Given the description of an element on the screen output the (x, y) to click on. 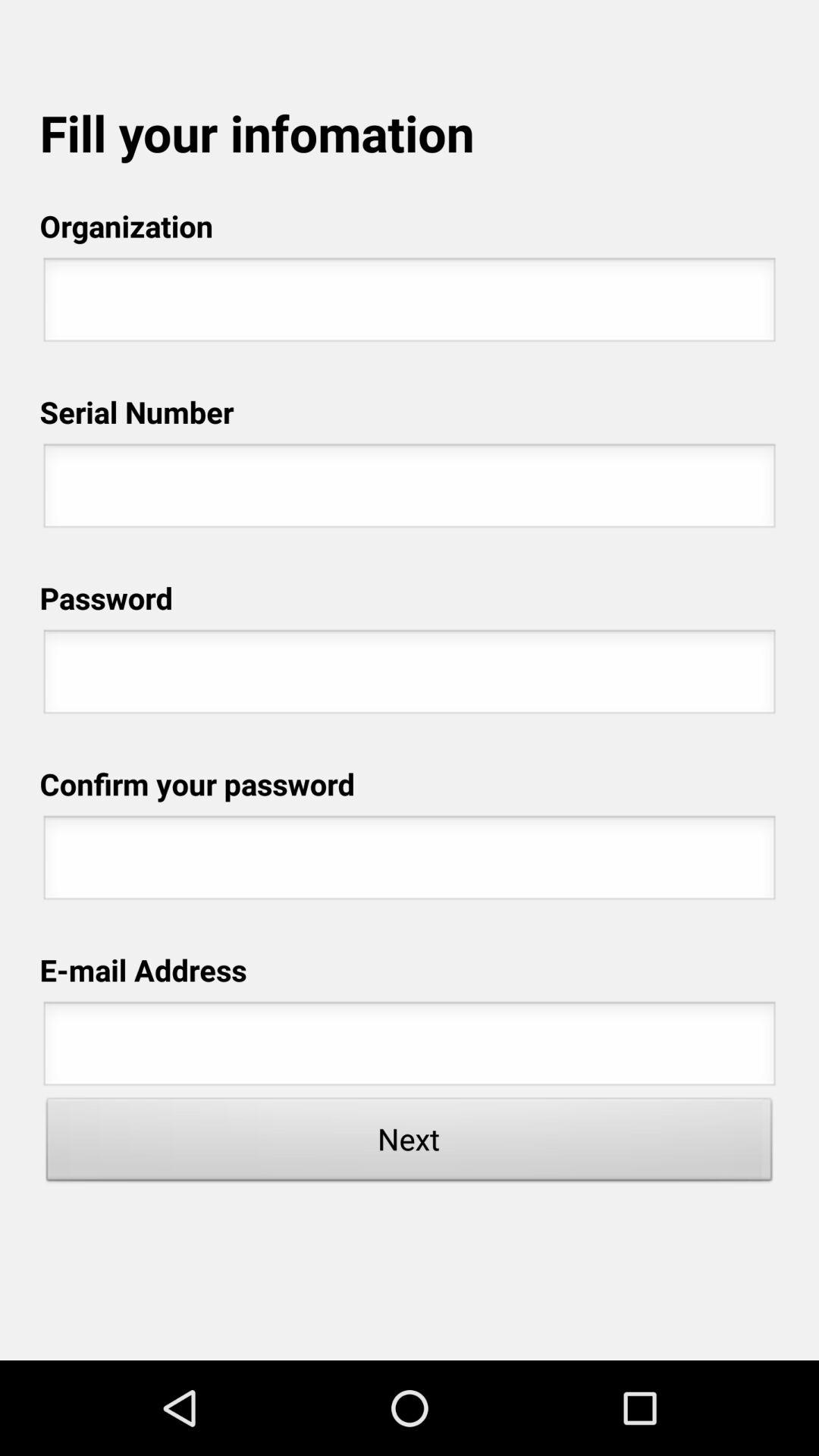
enter email (409, 1047)
